Given the description of an element on the screen output the (x, y) to click on. 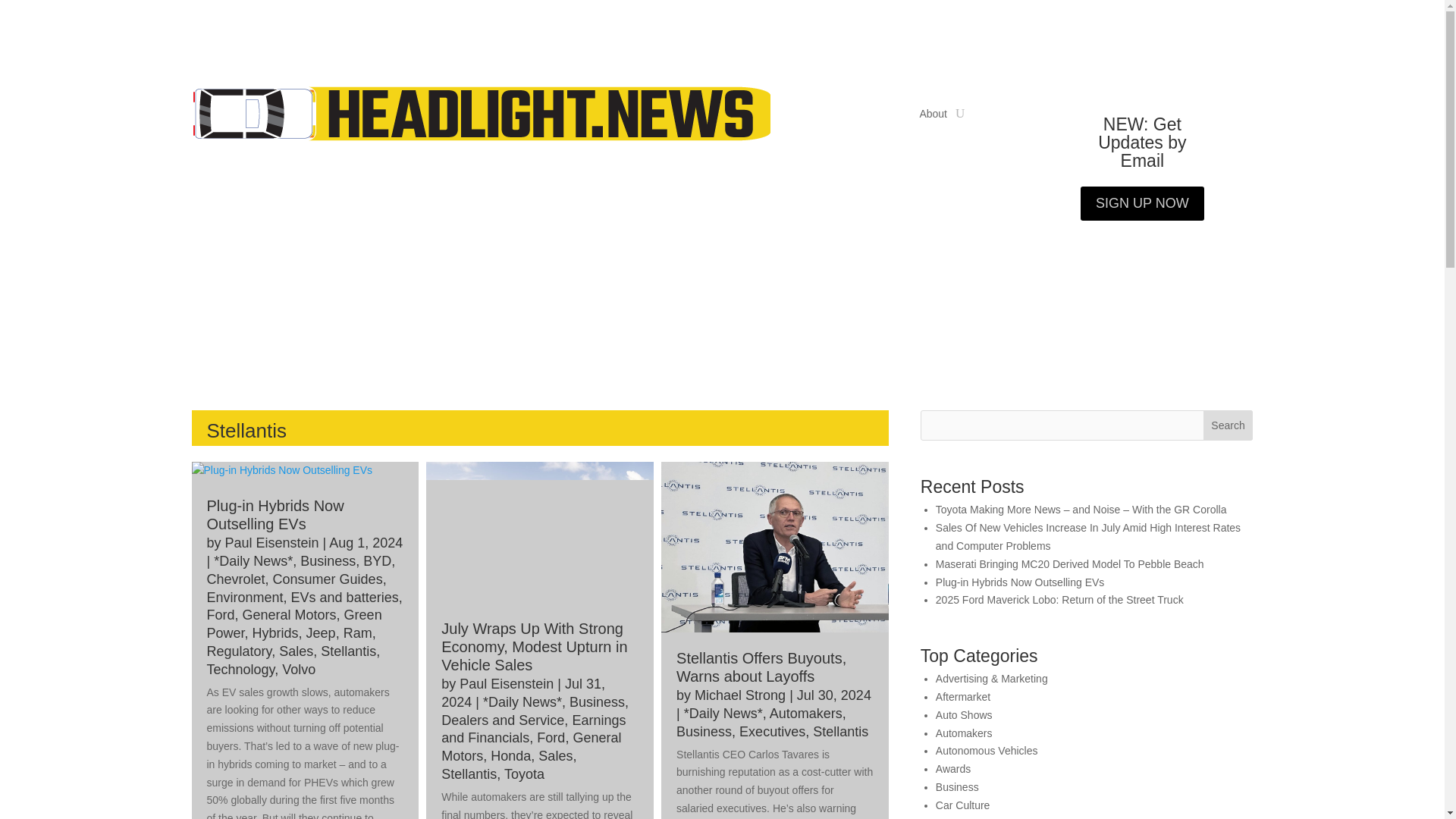
Consumer Guides (327, 579)
General Motors (289, 614)
Sales (555, 755)
Paul Eisenstein (271, 542)
Jeep (320, 632)
Earnings and Financials (533, 729)
SIGN UP NOW (1142, 203)
Paul Eisenstein (506, 683)
EVs and batteries (344, 597)
Technology (240, 669)
Green Power (293, 623)
Dealers and Service (502, 720)
Ford (220, 614)
Volvo (298, 669)
